Given the description of an element on the screen output the (x, y) to click on. 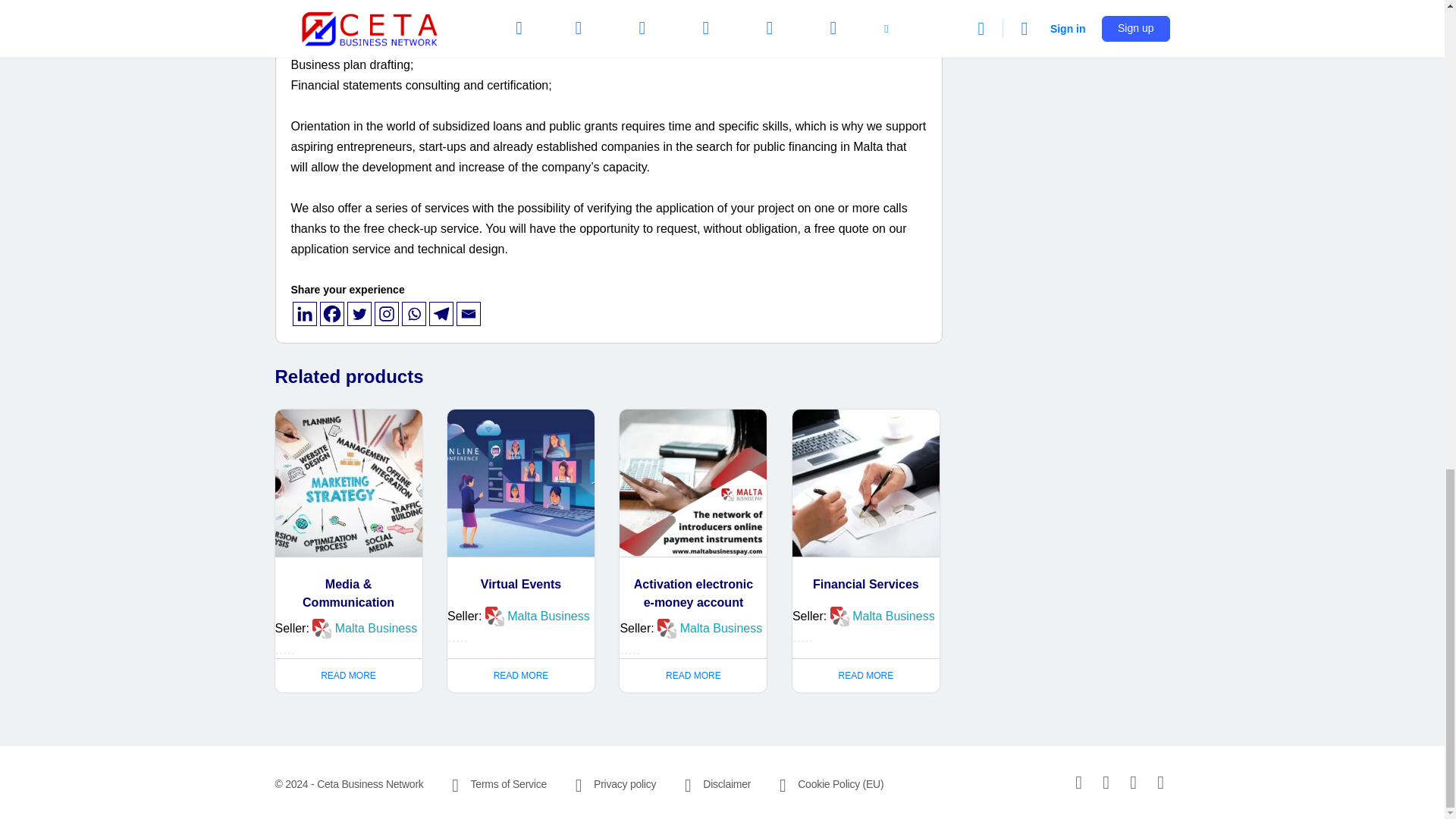
Instagram (386, 313)
Linkedin (304, 313)
Facebook (331, 313)
Whatsapp (413, 313)
Telegram (440, 313)
Twitter (359, 313)
